Given the description of an element on the screen output the (x, y) to click on. 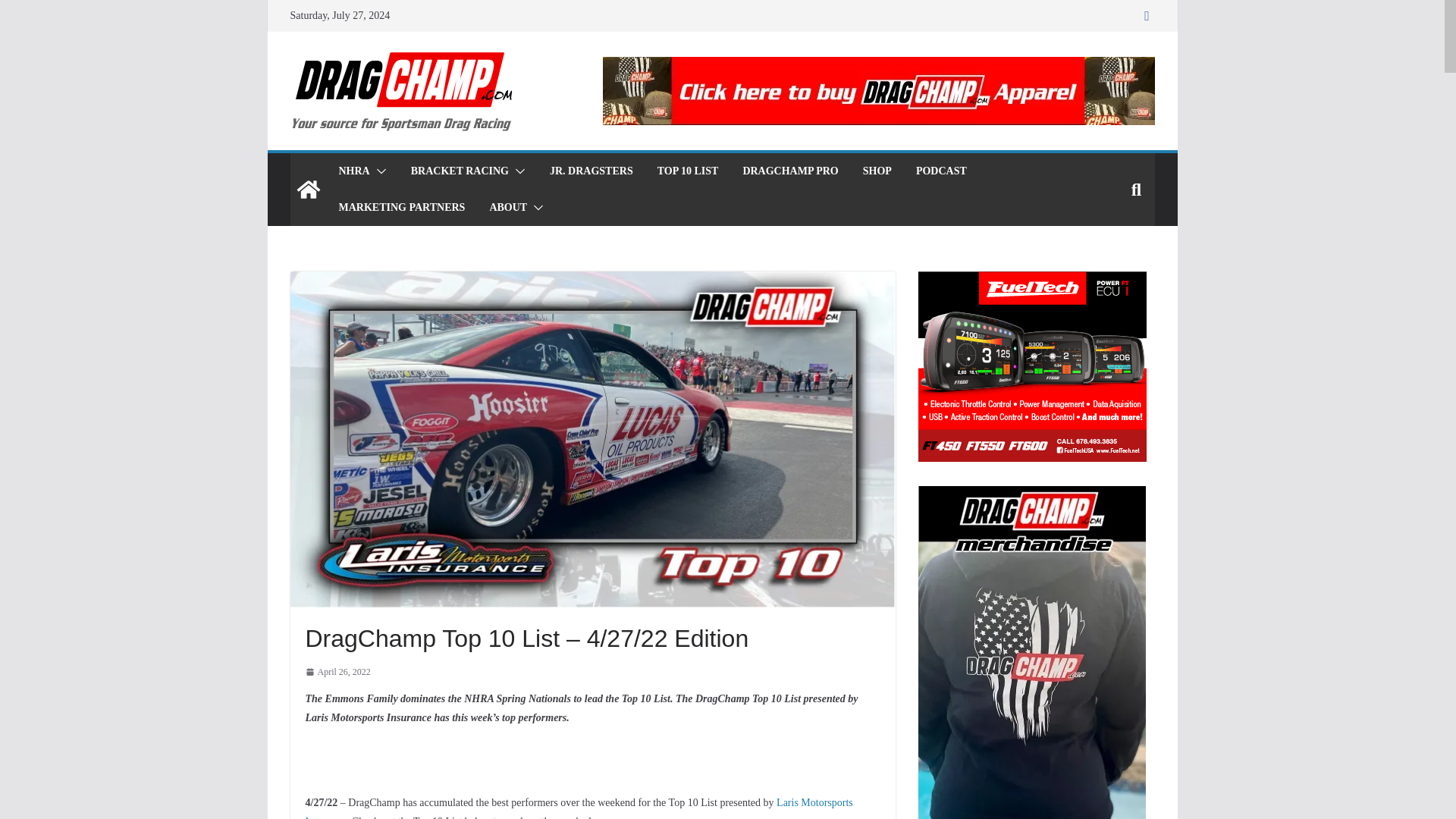
10:06 pm (336, 672)
DragChamp.com (307, 189)
TOP 10 LIST (688, 170)
PODCAST (940, 170)
NHRA (353, 170)
JR. DRAGSTERS (591, 170)
April 26, 2022 (336, 672)
MARKETING PARTNERS (400, 207)
DRAGCHAMP PRO (790, 170)
ABOUT (508, 207)
Laris Motorsports Insurance (577, 807)
BRACKET RACING (459, 170)
SHOP (877, 170)
